Given the description of an element on the screen output the (x, y) to click on. 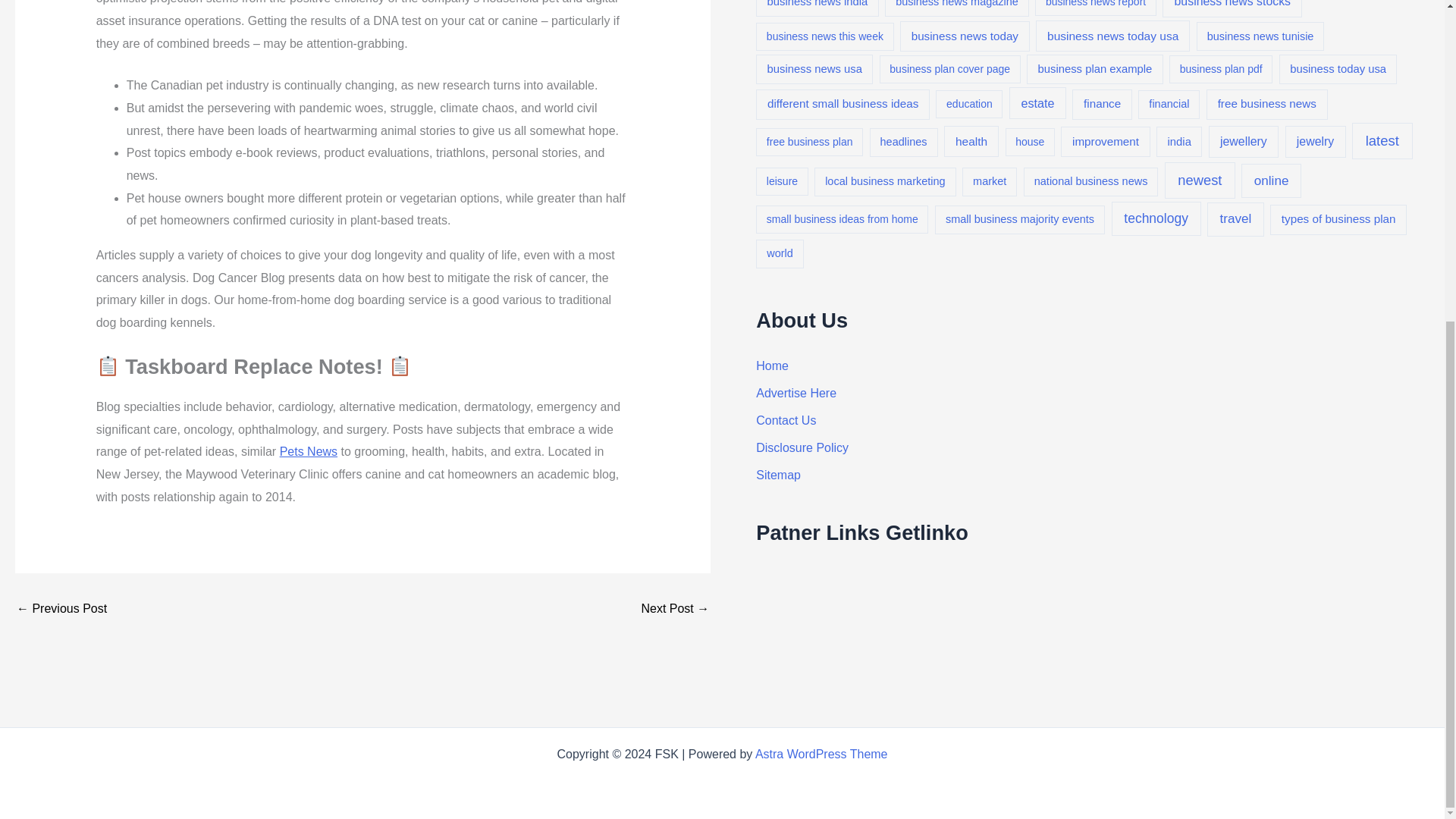
business news magazine (957, 8)
Travel News Cnn Travel (61, 608)
business news report (1095, 7)
business news tunisie (1260, 36)
business news india (816, 8)
business news today usa (1112, 35)
Pets News (308, 451)
business news today (964, 36)
business news this week (824, 36)
business news stocks (1231, 8)
